Given the description of an element on the screen output the (x, y) to click on. 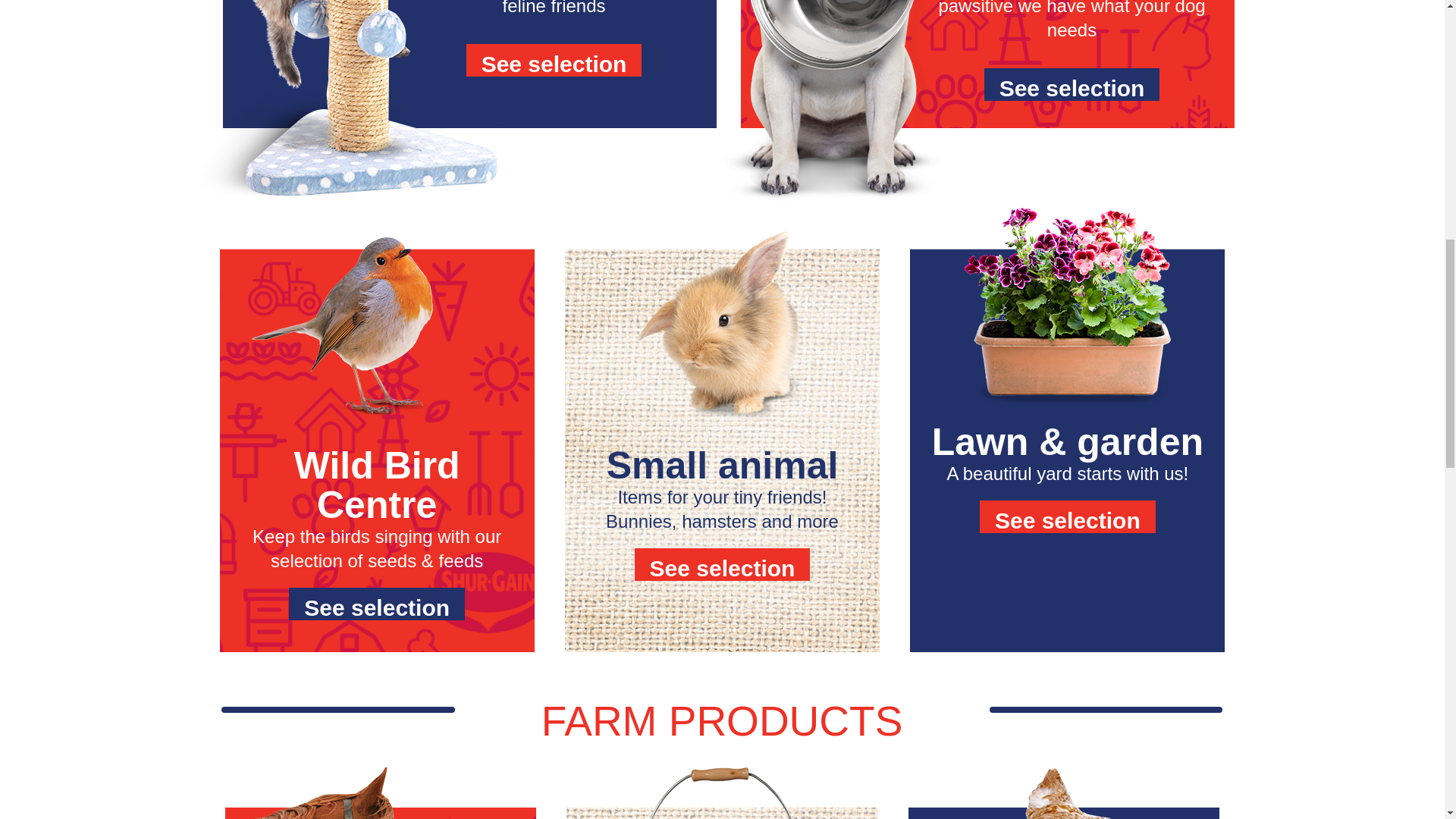
See selection (1072, 83)
See selection (553, 60)
See selection (1067, 516)
See selection (722, 563)
See selection (376, 603)
